Given the description of an element on the screen output the (x, y) to click on. 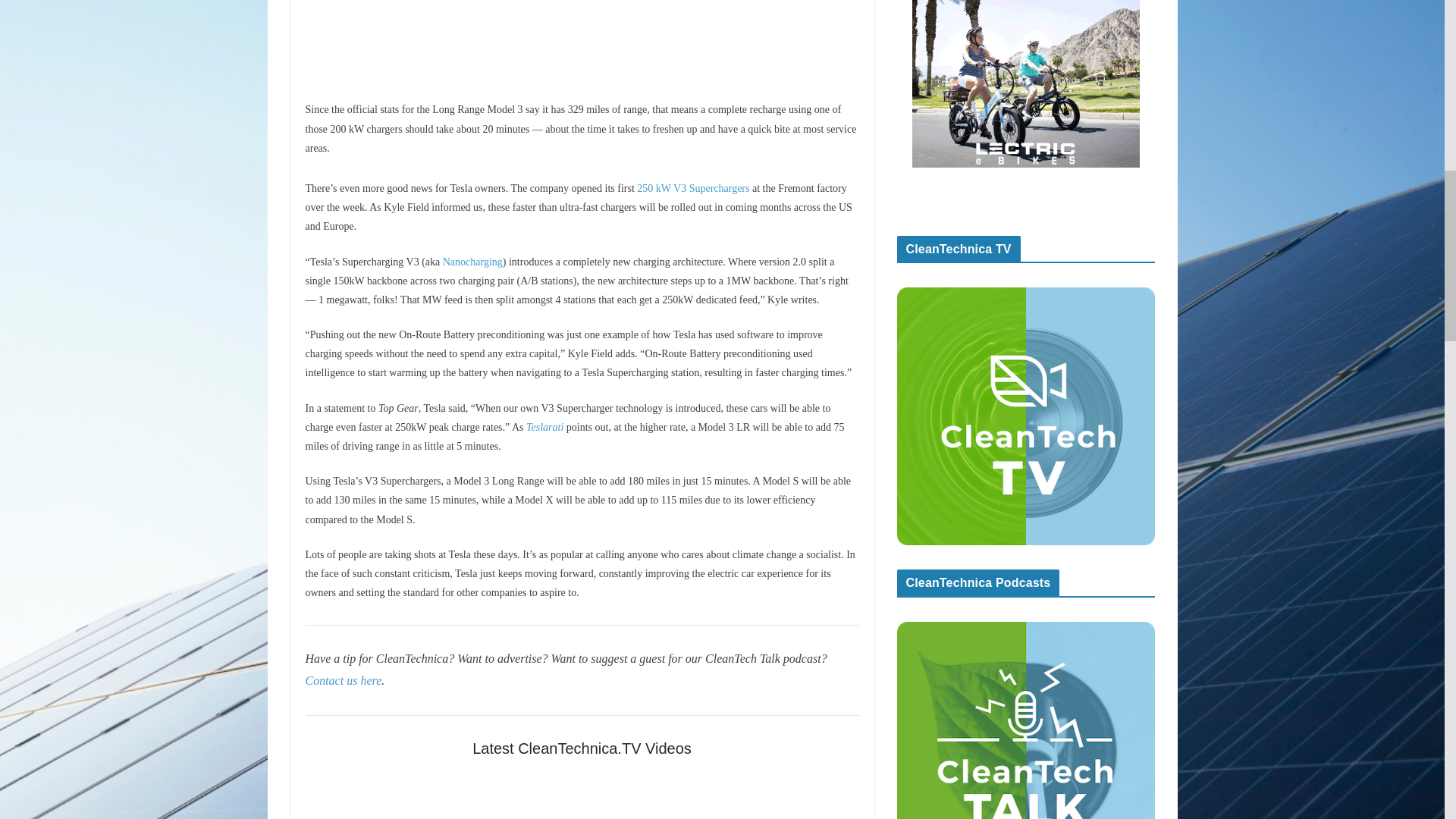
YouTube video player (581, 796)
